Given the description of an element on the screen output the (x, y) to click on. 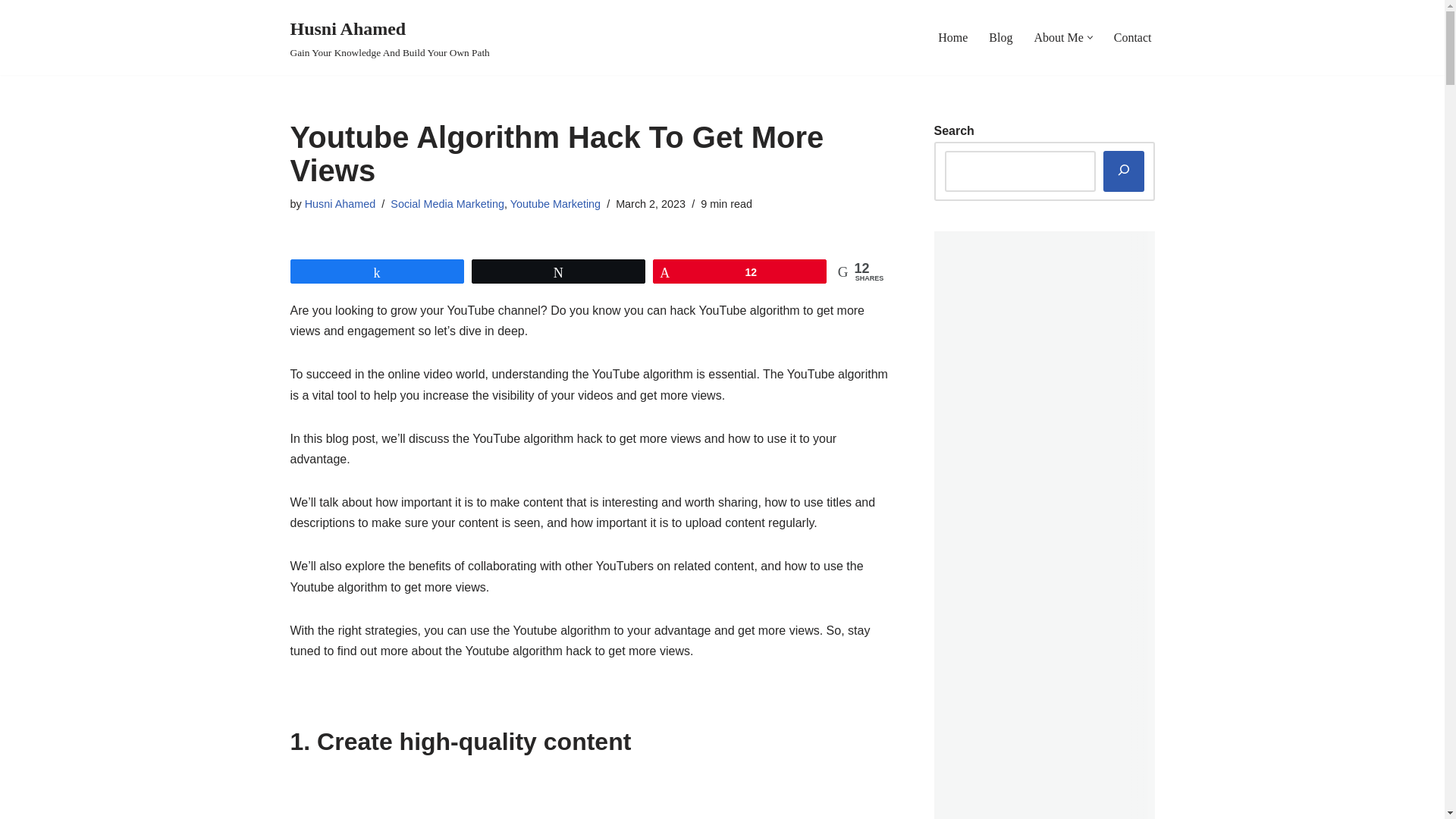
Husni Ahamed (339, 203)
Home (952, 37)
Contact (1132, 37)
About Me (1058, 37)
12 (389, 37)
Skip to content (739, 271)
Social Media Marketing (11, 31)
Blog (446, 203)
Youtube Marketing (999, 37)
Posts by Husni Ahamed (555, 203)
